Given the description of an element on the screen output the (x, y) to click on. 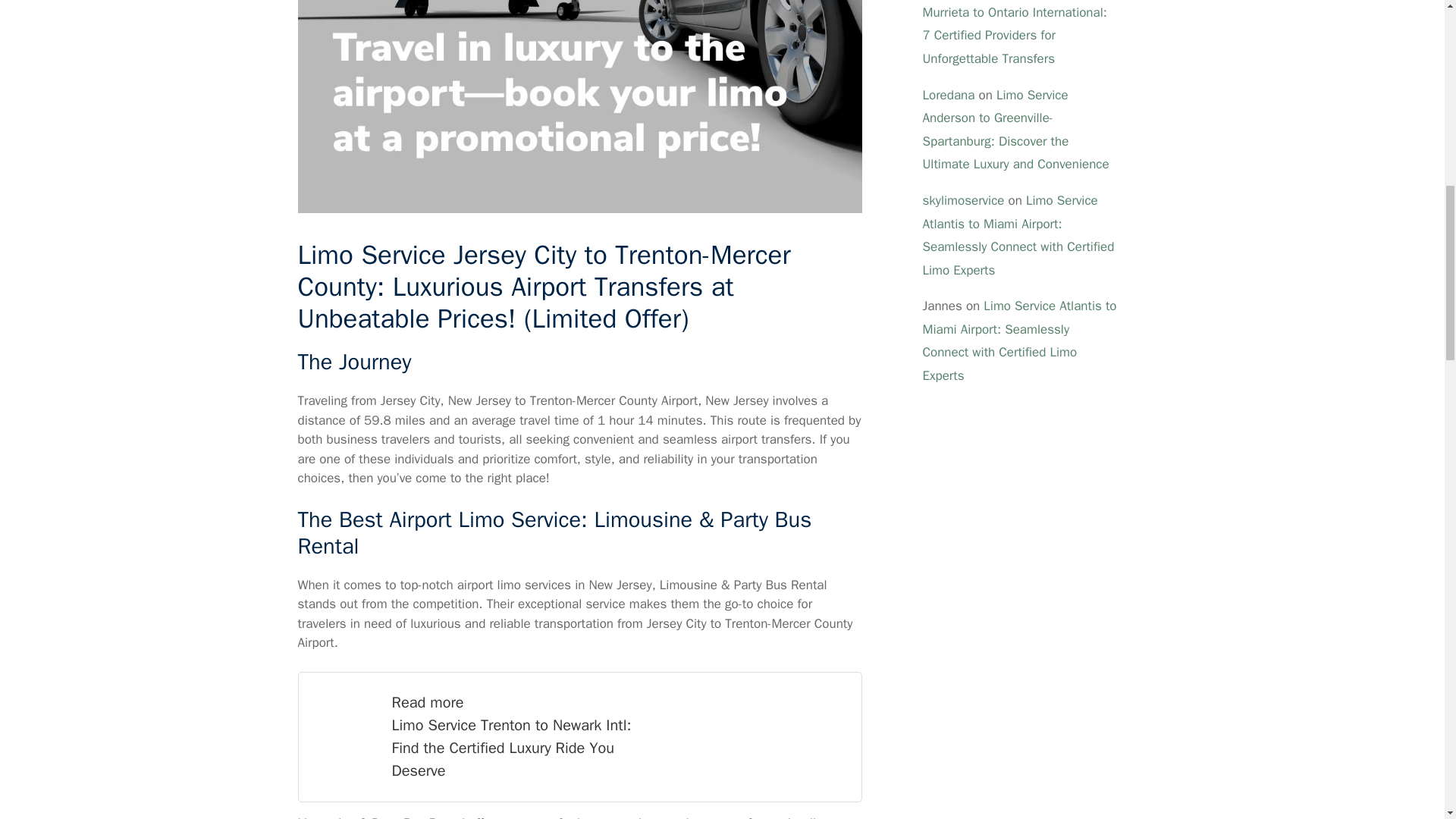
skylimoservice (962, 200)
Loredana (947, 94)
